Given the description of an element on the screen output the (x, y) to click on. 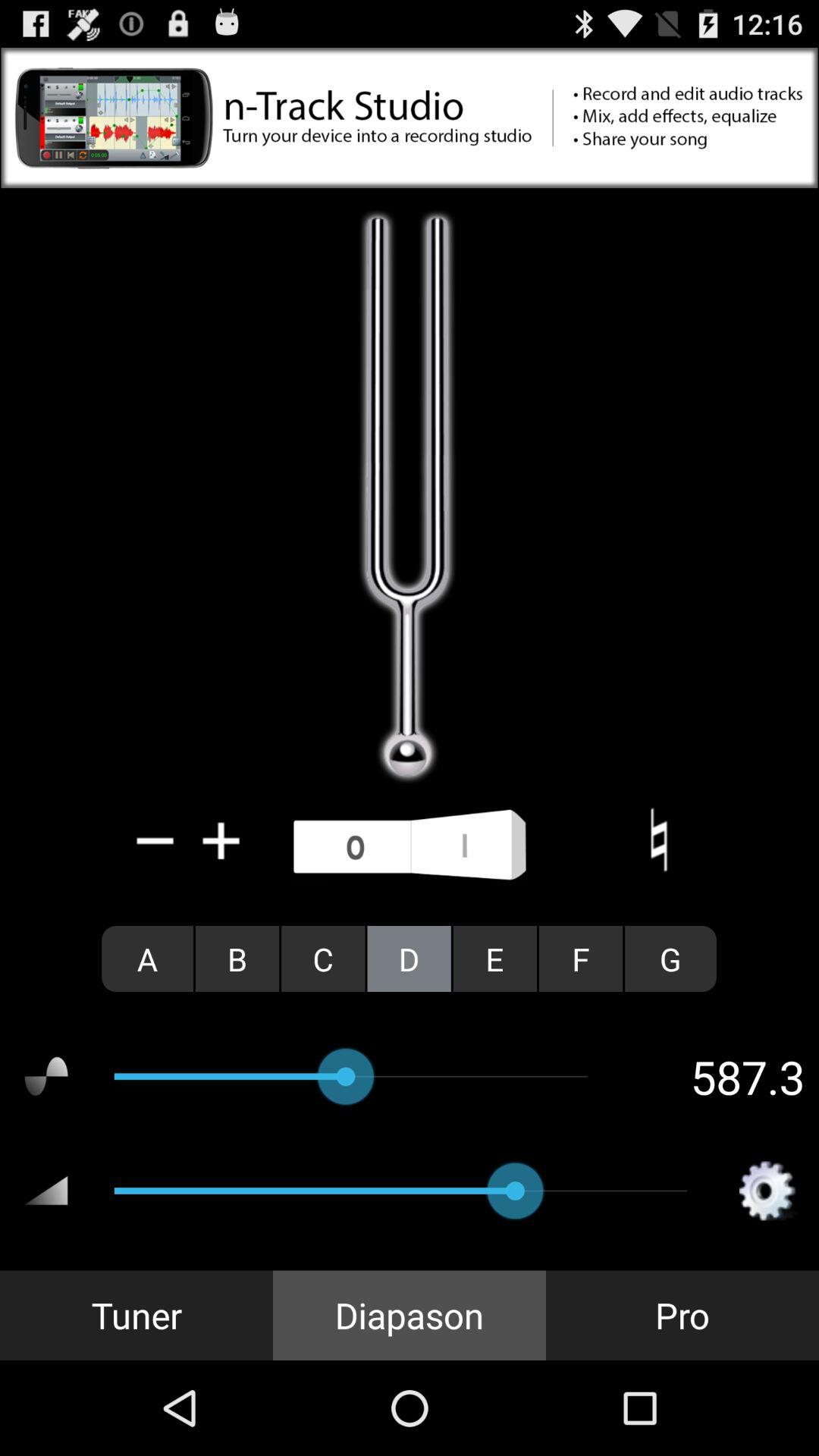
click a (147, 958)
